Given the description of an element on the screen output the (x, y) to click on. 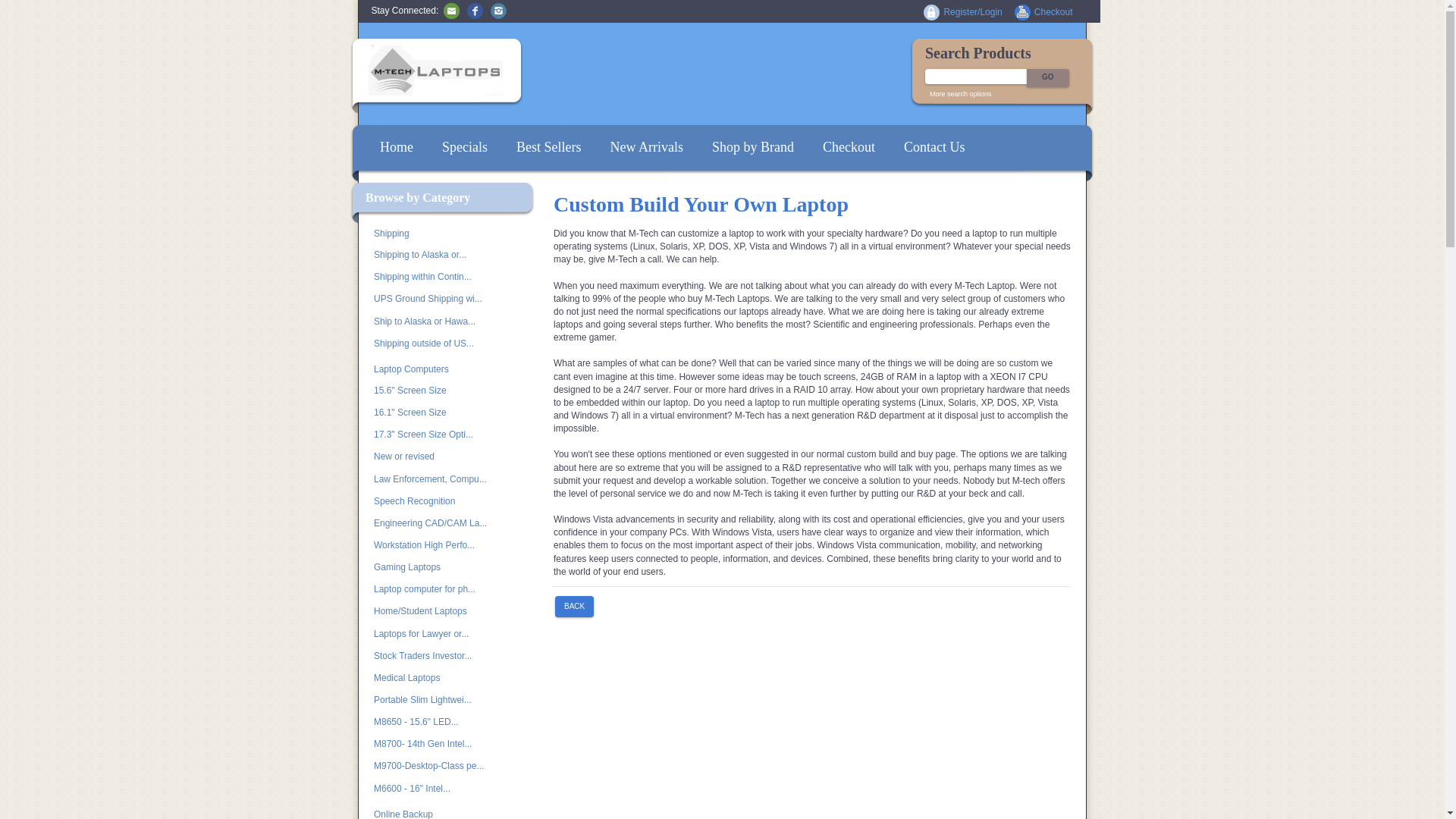
Shipping within Contin... (438, 277)
Shipping outside of US... (438, 343)
15.6" Screen Size (438, 391)
Checkout (1053, 11)
17.3" Screen Size Opti... (438, 434)
Speech Recognition (438, 501)
Go (1047, 77)
Law Enforcement, Compu... (438, 479)
Follow us on Instagram! (498, 9)
Contact Us (934, 147)
